Given the description of an element on the screen output the (x, y) to click on. 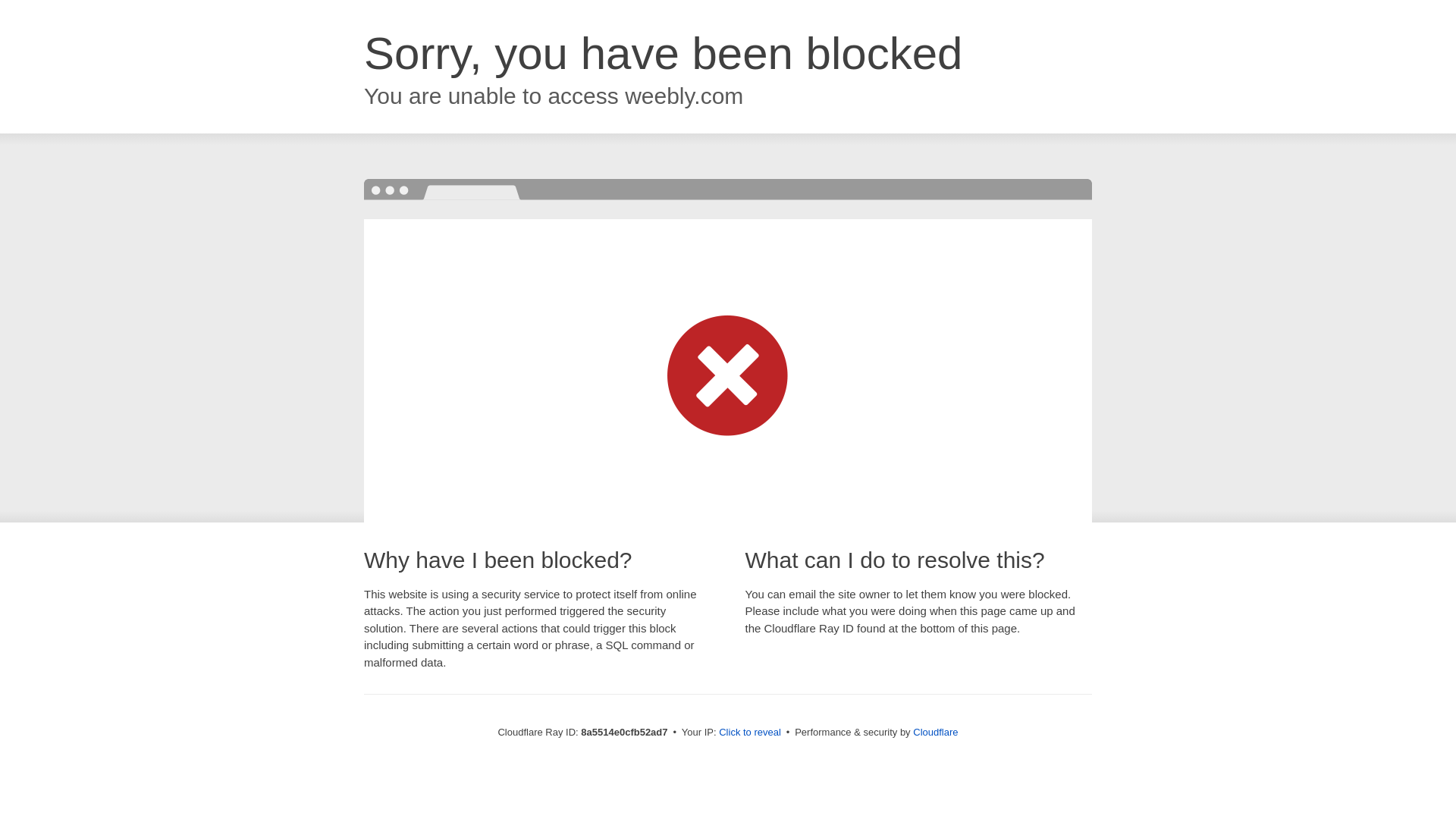
Cloudflare (935, 731)
Click to reveal (749, 732)
